Given the description of an element on the screen output the (x, y) to click on. 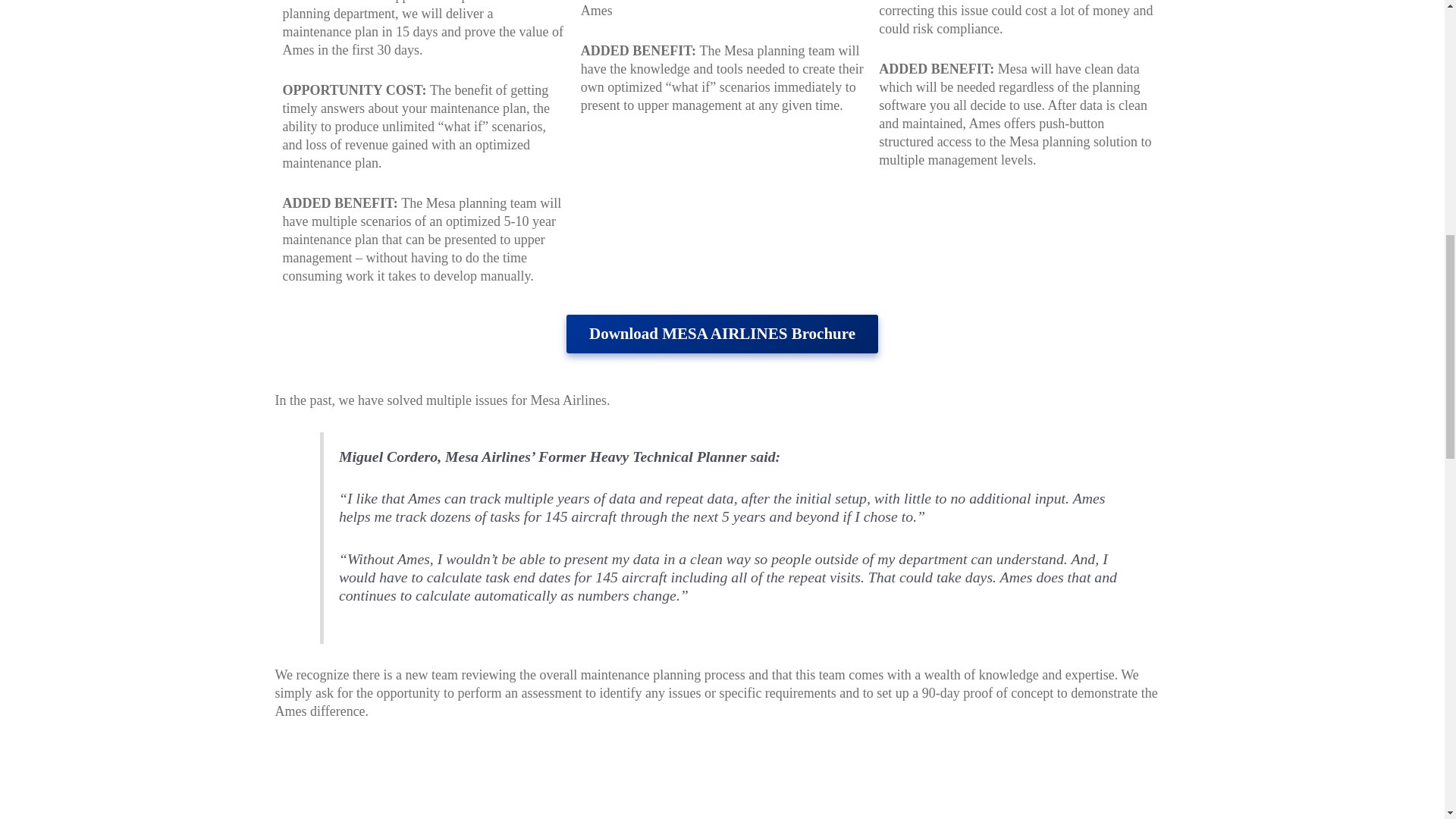
Download MESA AIRLINES Brochure (721, 333)
